Given the description of an element on the screen output the (x, y) to click on. 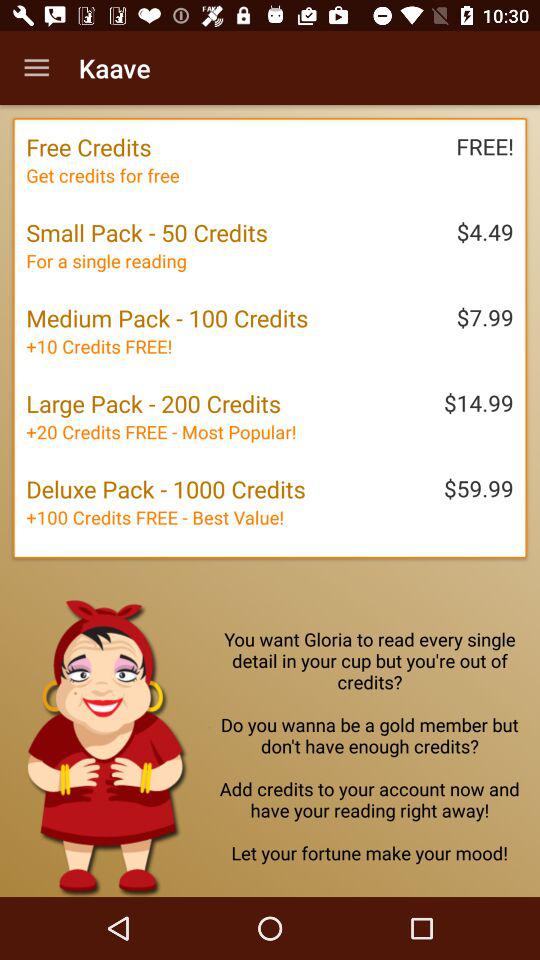
open app to the left of kaave (36, 68)
